Given the description of an element on the screen output the (x, y) to click on. 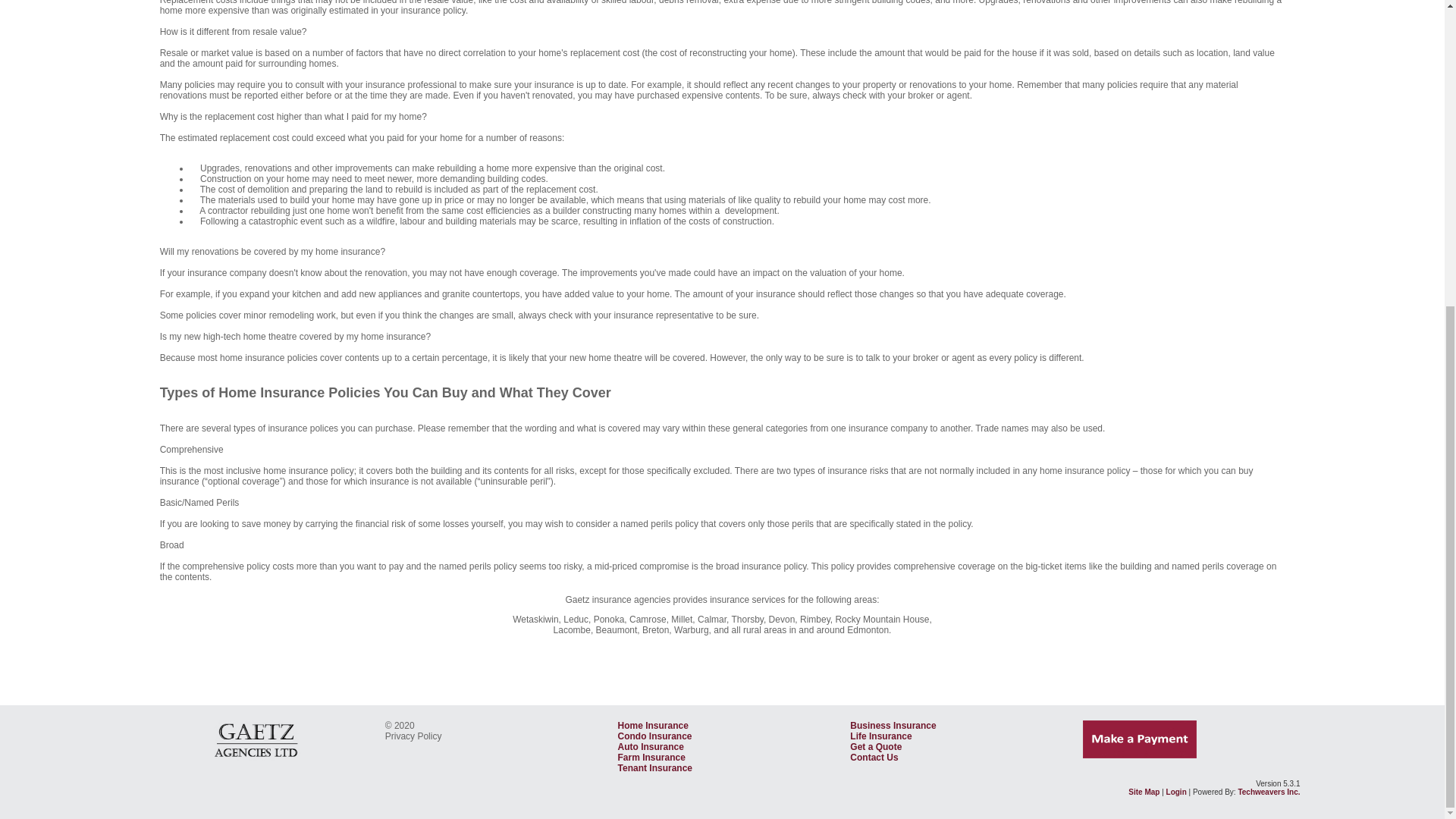
Site Map (1143, 791)
Home Insurance (652, 725)
Business Insurance (893, 725)
Life Insurance (880, 736)
Login (1176, 791)
Condo Insurance (655, 736)
Auto Insurance (650, 747)
Techweavers Inc. (1268, 791)
Contact Us (874, 757)
Tenant Insurance (655, 767)
